Given the description of an element on the screen output the (x, y) to click on. 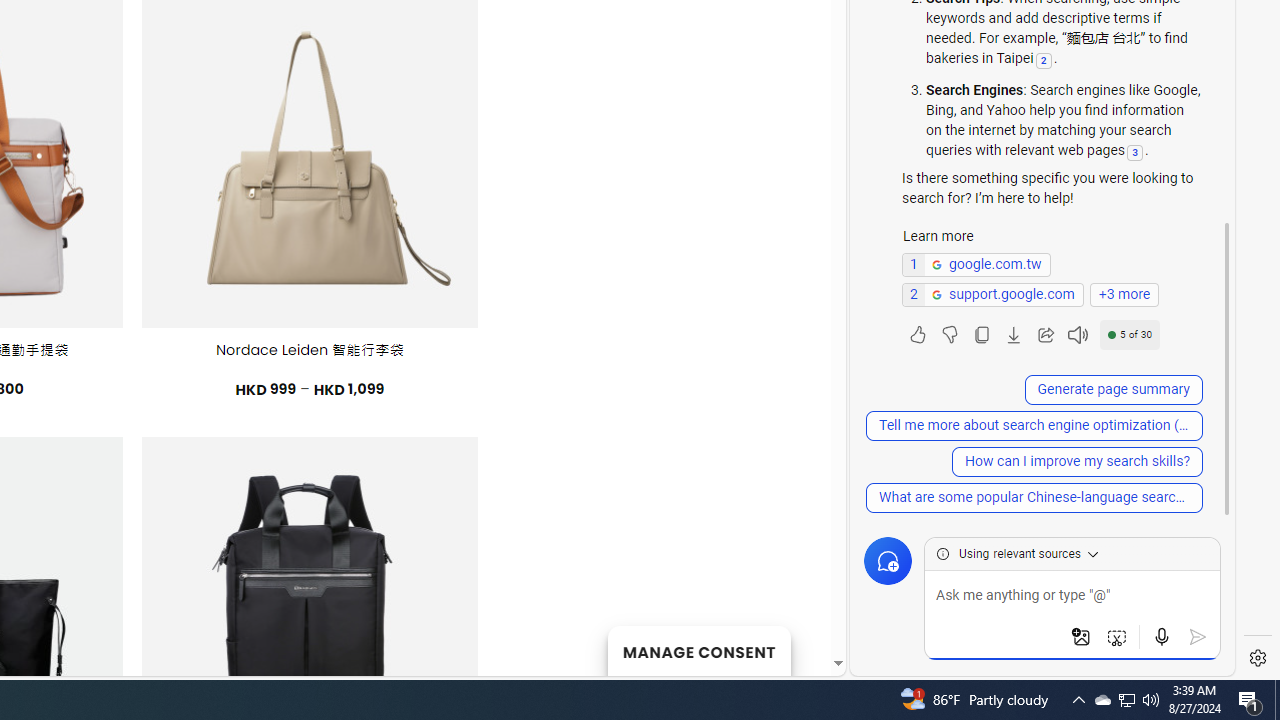
MANAGE CONSENT (698, 650)
